Given the description of an element on the screen output the (x, y) to click on. 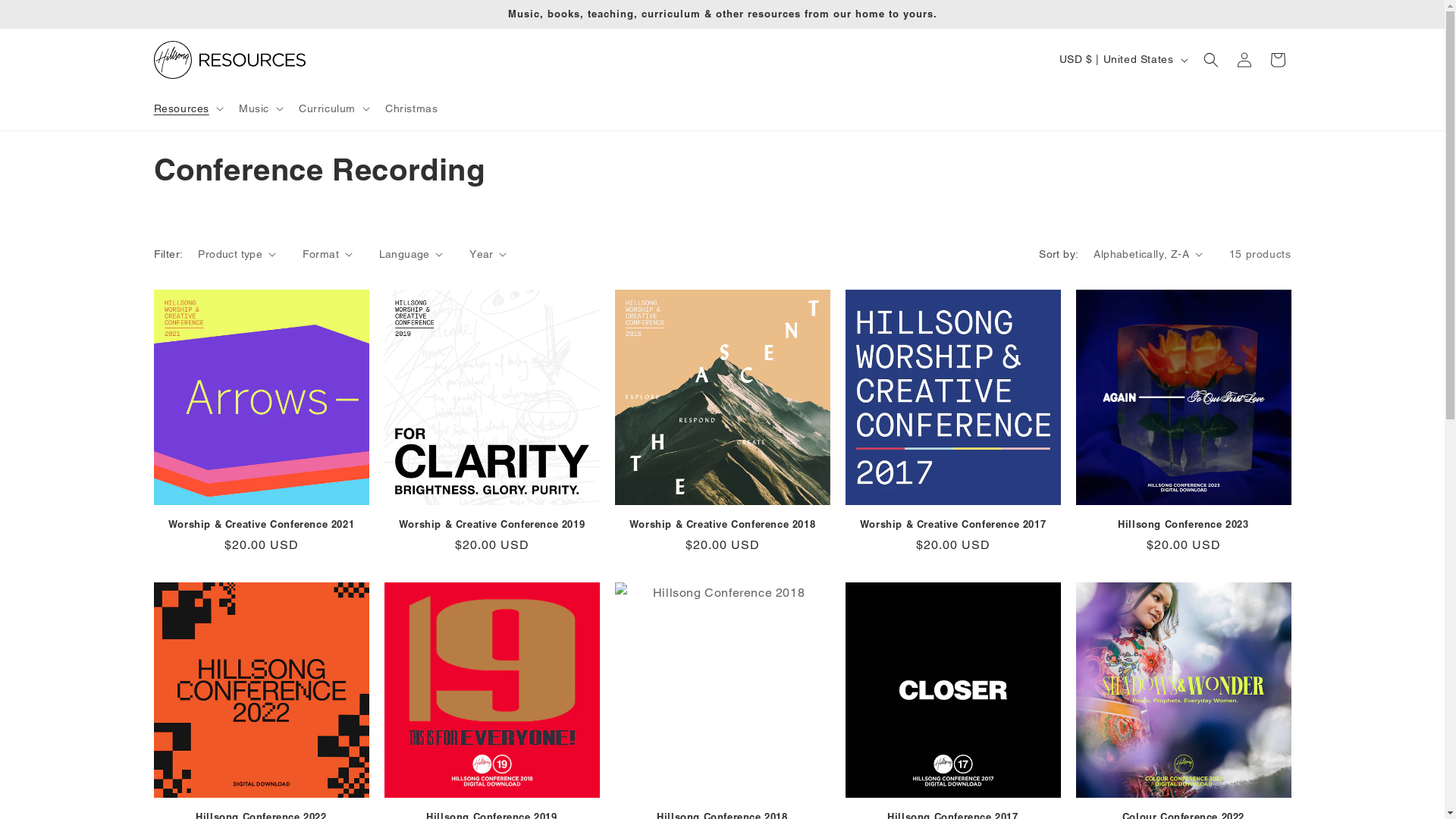
Worship & Creative Conference 2019 Element type: text (491, 523)
Worship & Creative Conference 2021 Element type: text (260, 523)
Log in Element type: text (1243, 58)
Worship & Creative Conference 2018 Element type: text (721, 523)
Worship & Creative Conference 2017 Element type: text (952, 523)
USD $ | United States Element type: text (1122, 59)
Christmas Element type: text (411, 108)
Cart Element type: text (1276, 58)
Hillsong Conference 2023 Element type: text (1182, 523)
